Given the description of an element on the screen output the (x, y) to click on. 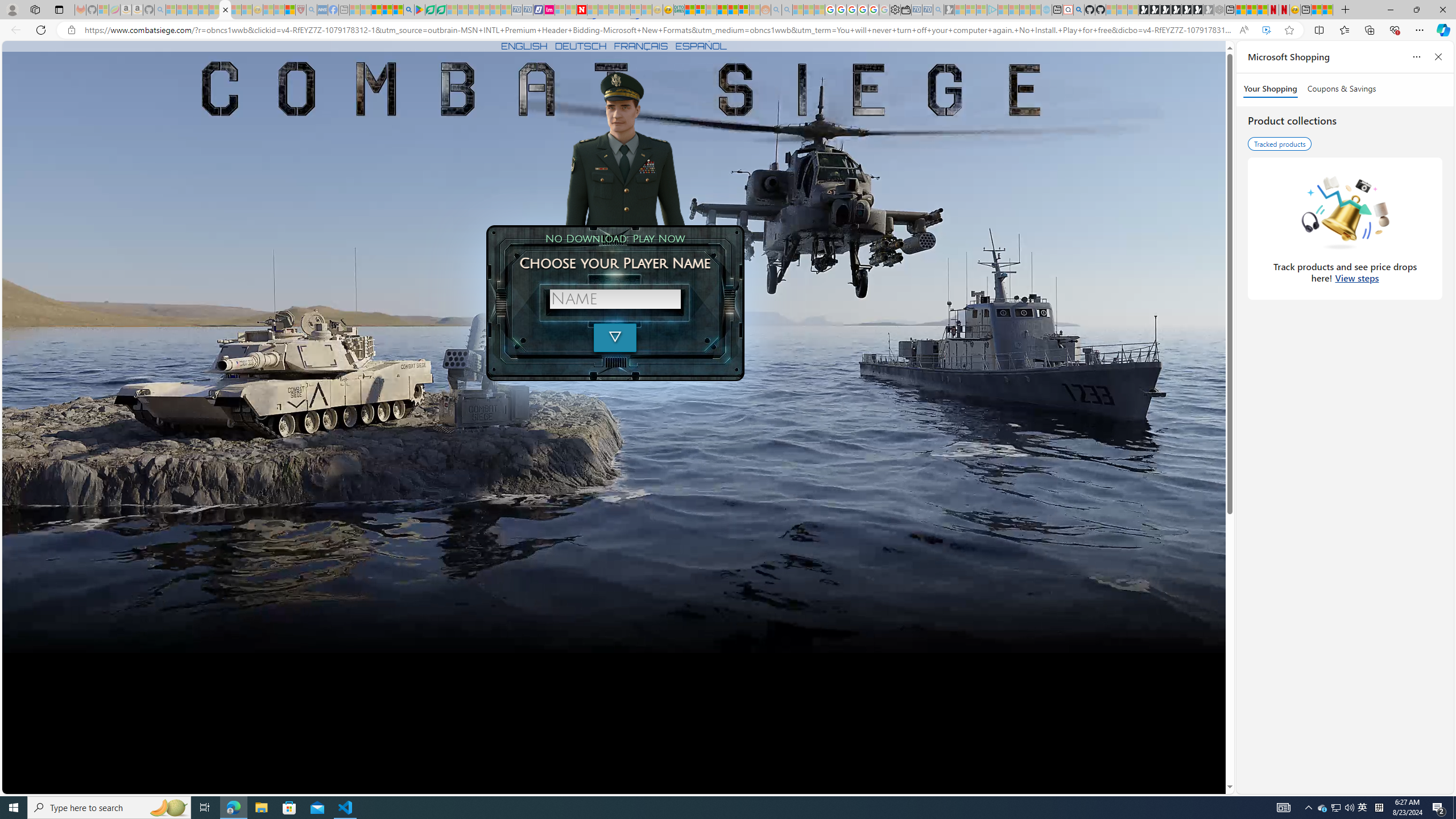
Microsoft Word - consumer-privacy address update 2.2021 (440, 9)
Kinda Frugal - MSN (733, 9)
DEUTSCH (580, 45)
